Given the description of an element on the screen output the (x, y) to click on. 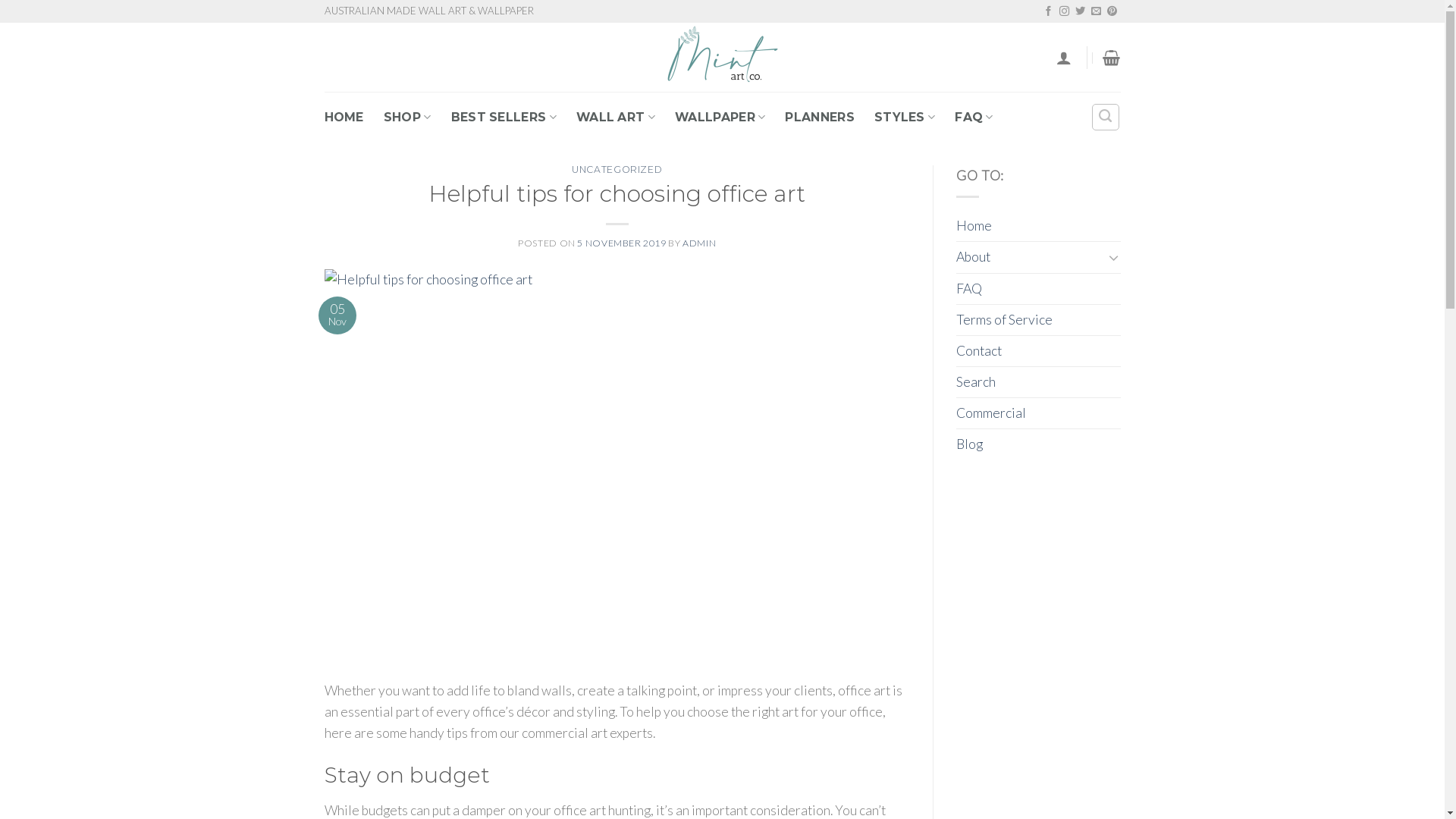
WALLPAPER Element type: text (719, 116)
STYLES Element type: text (904, 116)
Follow on Instagram Element type: hover (1064, 11)
Follow on Facebook Element type: hover (1048, 11)
BEST SELLERS Element type: text (503, 116)
FAQ Element type: text (973, 116)
PLANNERS Element type: text (819, 116)
Commercial Element type: text (991, 413)
Cart Element type: hover (1111, 57)
Contact Element type: text (978, 350)
5 NOVEMBER 2019 Element type: text (621, 242)
FAQ Element type: text (969, 288)
UNCATEGORIZED Element type: text (616, 169)
Follow on Twitter Element type: hover (1080, 11)
ADMIN Element type: text (698, 242)
SHOP Element type: text (407, 116)
Terms of Service Element type: text (1004, 319)
Follow on Pinterest Element type: hover (1112, 11)
Send us an email Element type: hover (1096, 11)
Blog Element type: text (969, 444)
Search Element type: text (975, 382)
About Element type: text (1029, 256)
WALL ART Element type: text (615, 116)
HOME Element type: text (344, 116)
Home Element type: text (973, 225)
